Given the description of an element on the screen output the (x, y) to click on. 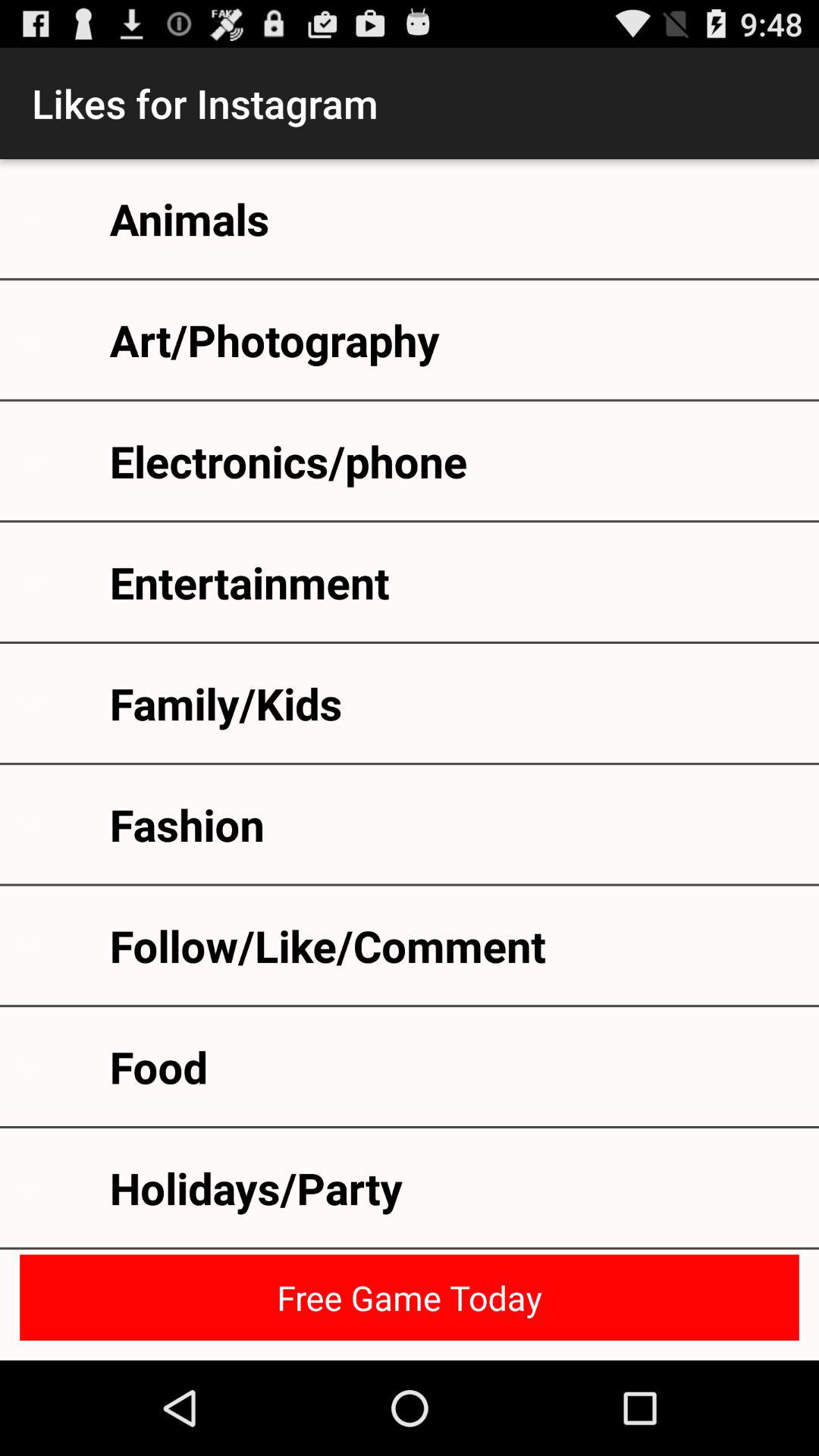
press the free game today (409, 1297)
